Given the description of an element on the screen output the (x, y) to click on. 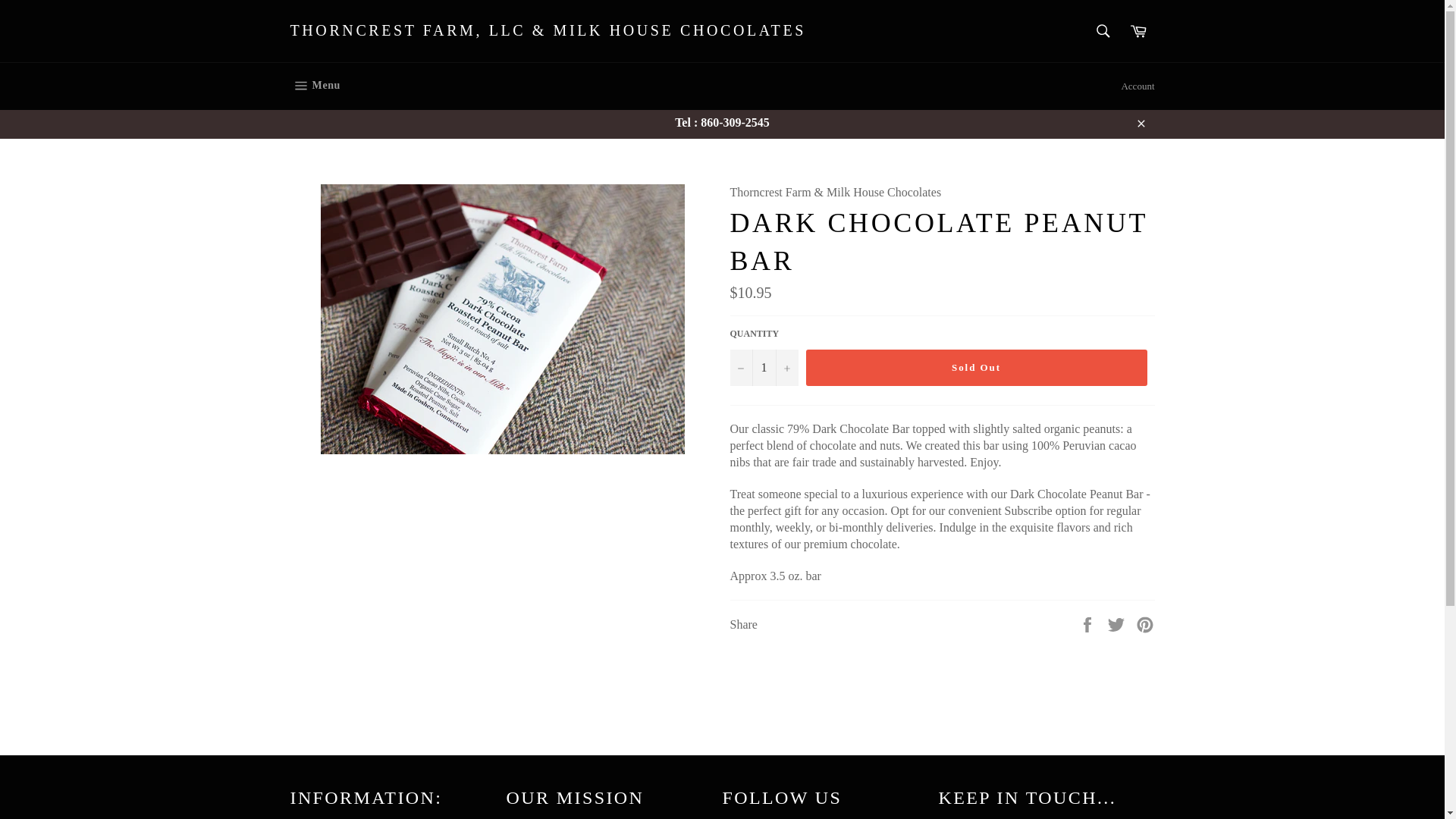
1 (763, 367)
Share on Facebook (1088, 623)
Pin on Pinterest (1144, 623)
Tweet on Twitter (1117, 623)
